Given the description of an element on the screen output the (x, y) to click on. 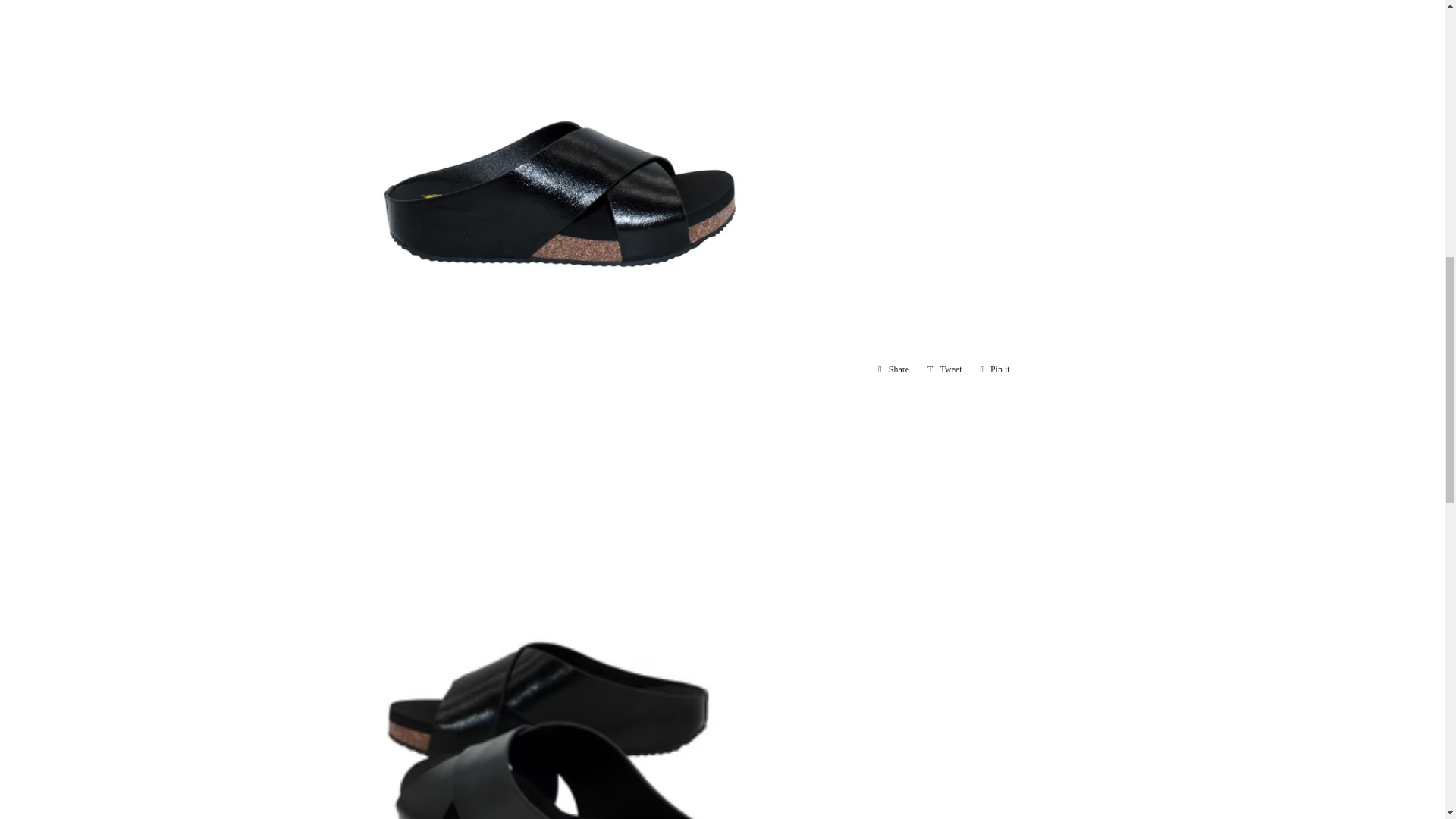
Share on Facebook (893, 369)
Pin on Pinterest (994, 369)
Tweet on Twitter (944, 369)
